Given the description of an element on the screen output the (x, y) to click on. 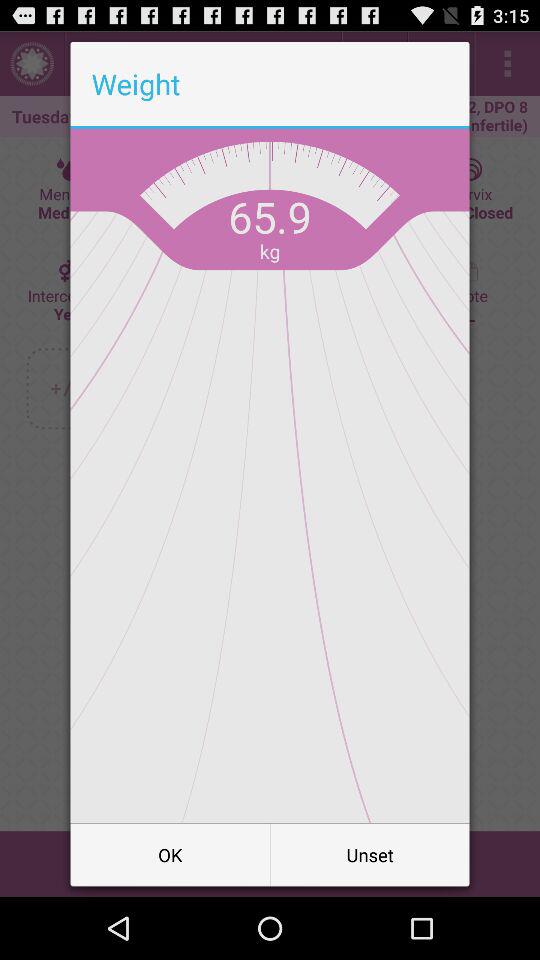
click the item at the center (269, 475)
